Given the description of an element on the screen output the (x, y) to click on. 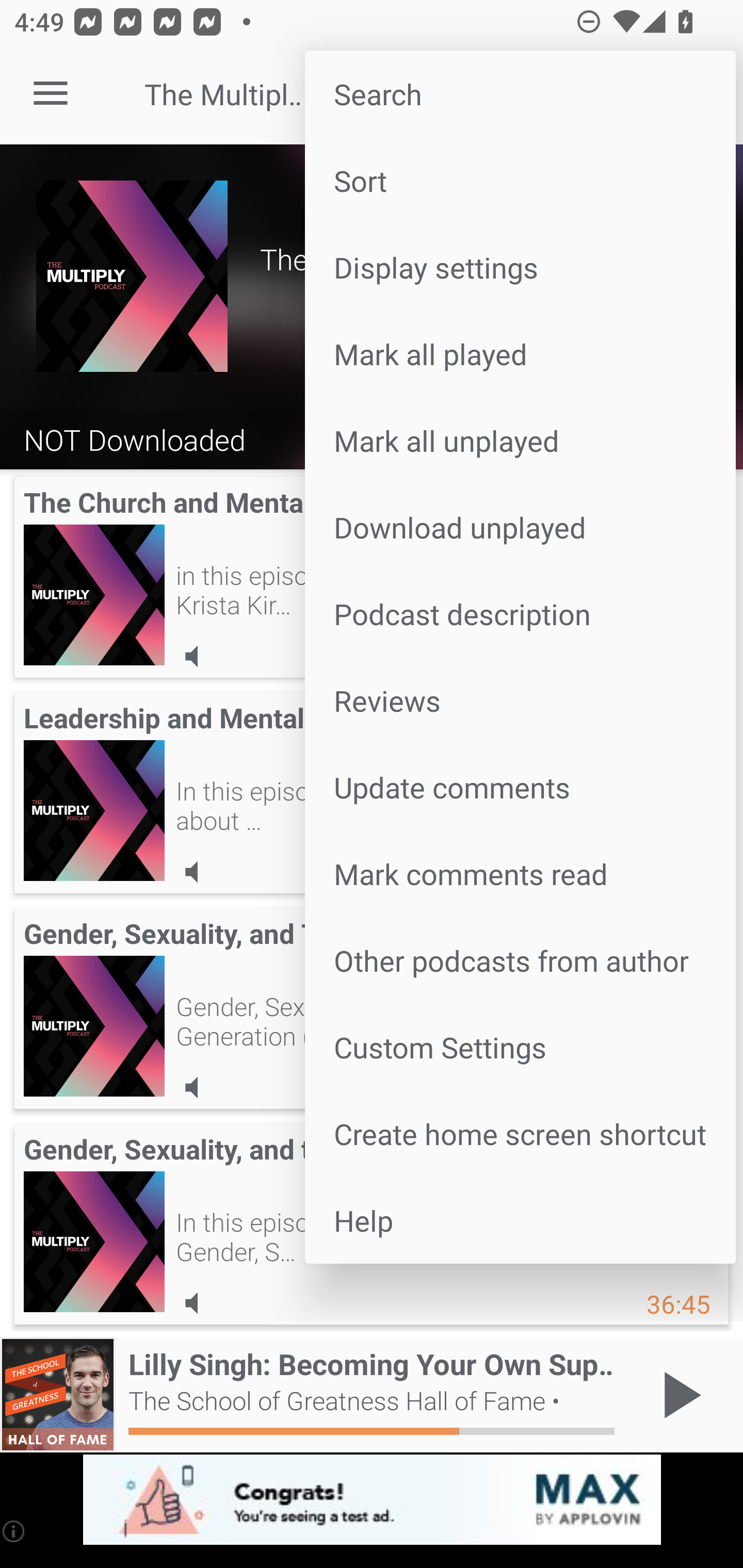
Search (519, 93)
Sort (519, 180)
Display settings (519, 267)
Mark all played (519, 353)
Mark all unplayed (519, 440)
Download unplayed (519, 527)
Podcast description (519, 613)
Reviews (519, 699)
Update comments (519, 787)
Mark comments read (519, 874)
Other podcasts from author (519, 960)
Custom Settings (519, 1046)
Create home screen shortcut (519, 1133)
Help (519, 1220)
